Given the description of an element on the screen output the (x, y) to click on. 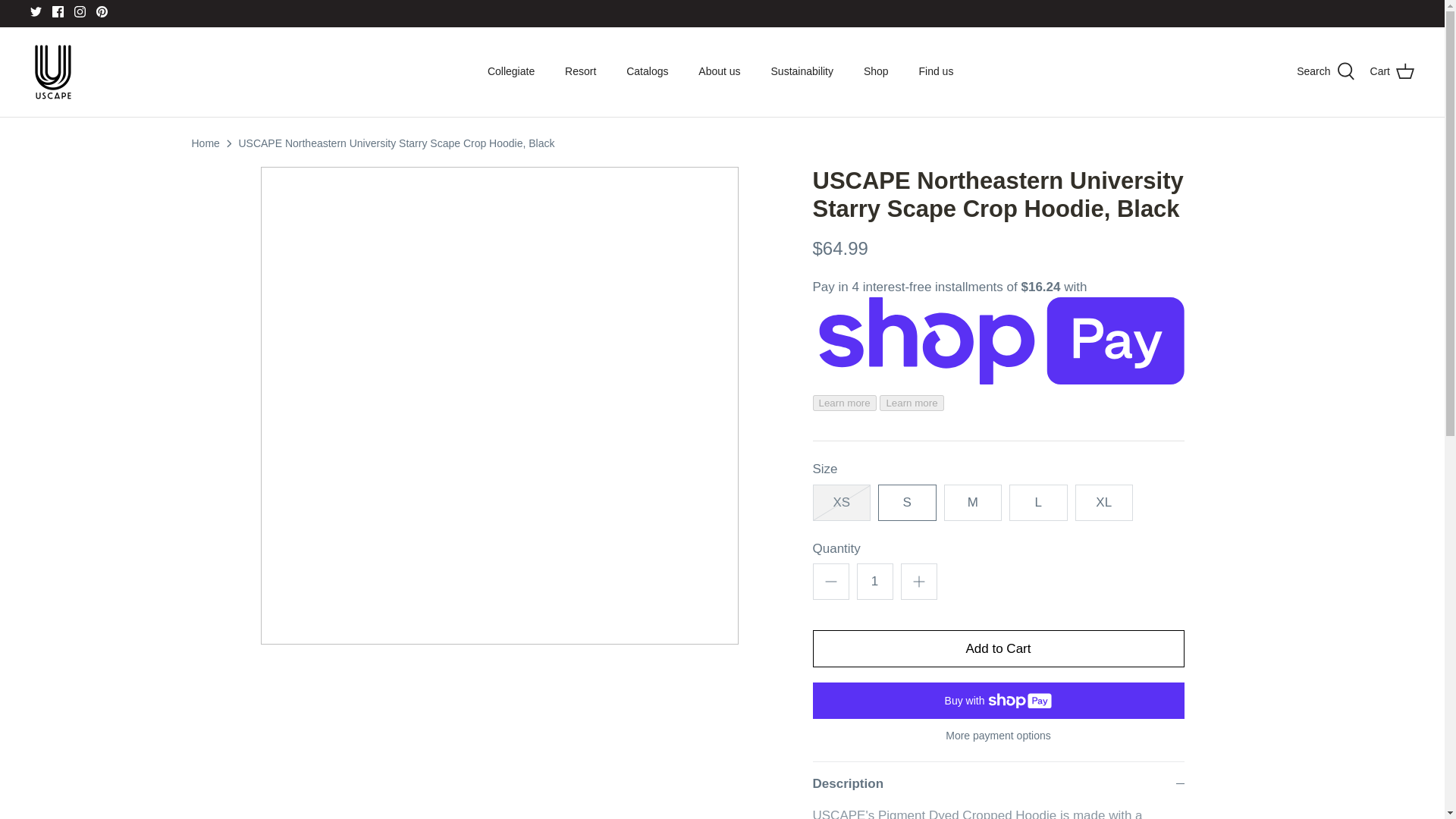
Pinterest (101, 11)
Plus (919, 581)
Collegiate (511, 71)
Twitter (36, 11)
Search (1325, 71)
Shop (876, 71)
Resort (580, 71)
Sustainability (802, 71)
Instagram (79, 11)
Pinterest (101, 11)
About us (719, 71)
Facebook (58, 11)
Twitter (36, 11)
Minus (831, 581)
Facebook (58, 11)
